Given the description of an element on the screen output the (x, y) to click on. 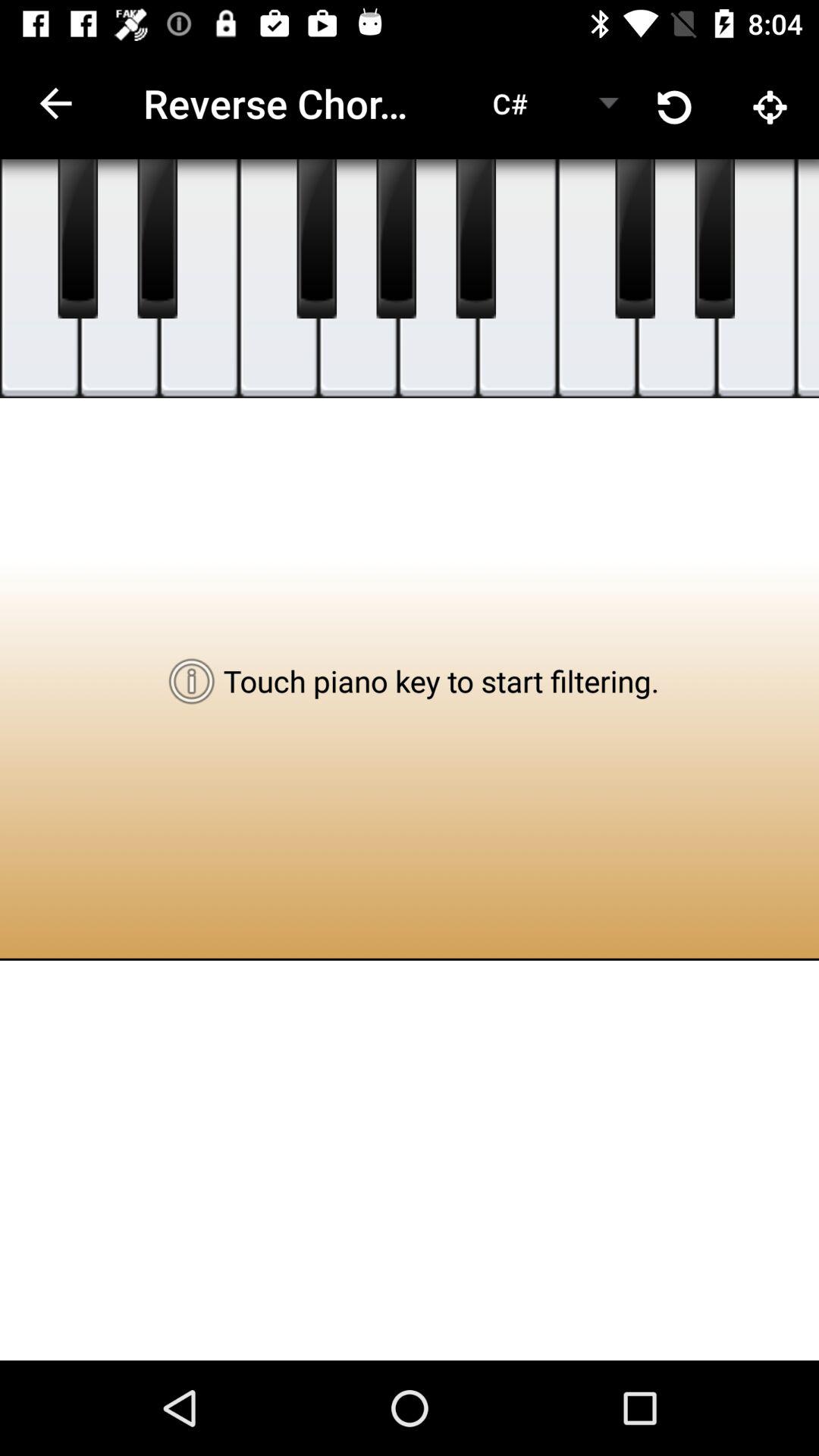
shows piano button (157, 238)
